Given the description of an element on the screen output the (x, y) to click on. 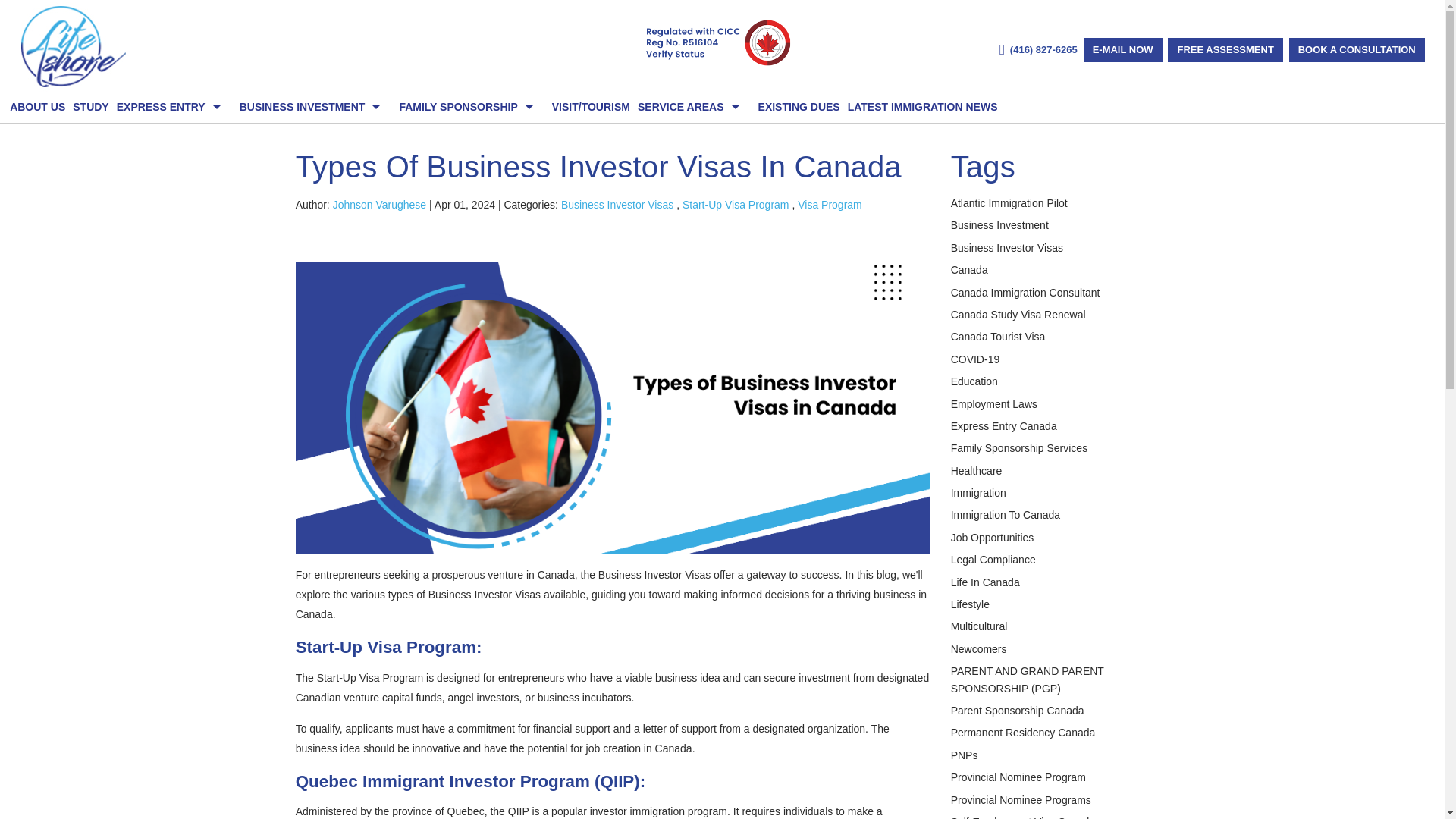
BOOK A CONSULTATION (1356, 49)
SERVICE AREAS (690, 107)
ABOUT US (37, 107)
EXPRESS ENTRY (170, 107)
STUDY (86, 107)
FAMILY SPONSORSHIP (467, 107)
FREE ASSESSMENT (1224, 49)
E-MAIL NOW (1122, 49)
BUSINESS INVESTMENT (311, 107)
